Given the description of an element on the screen output the (x, y) to click on. 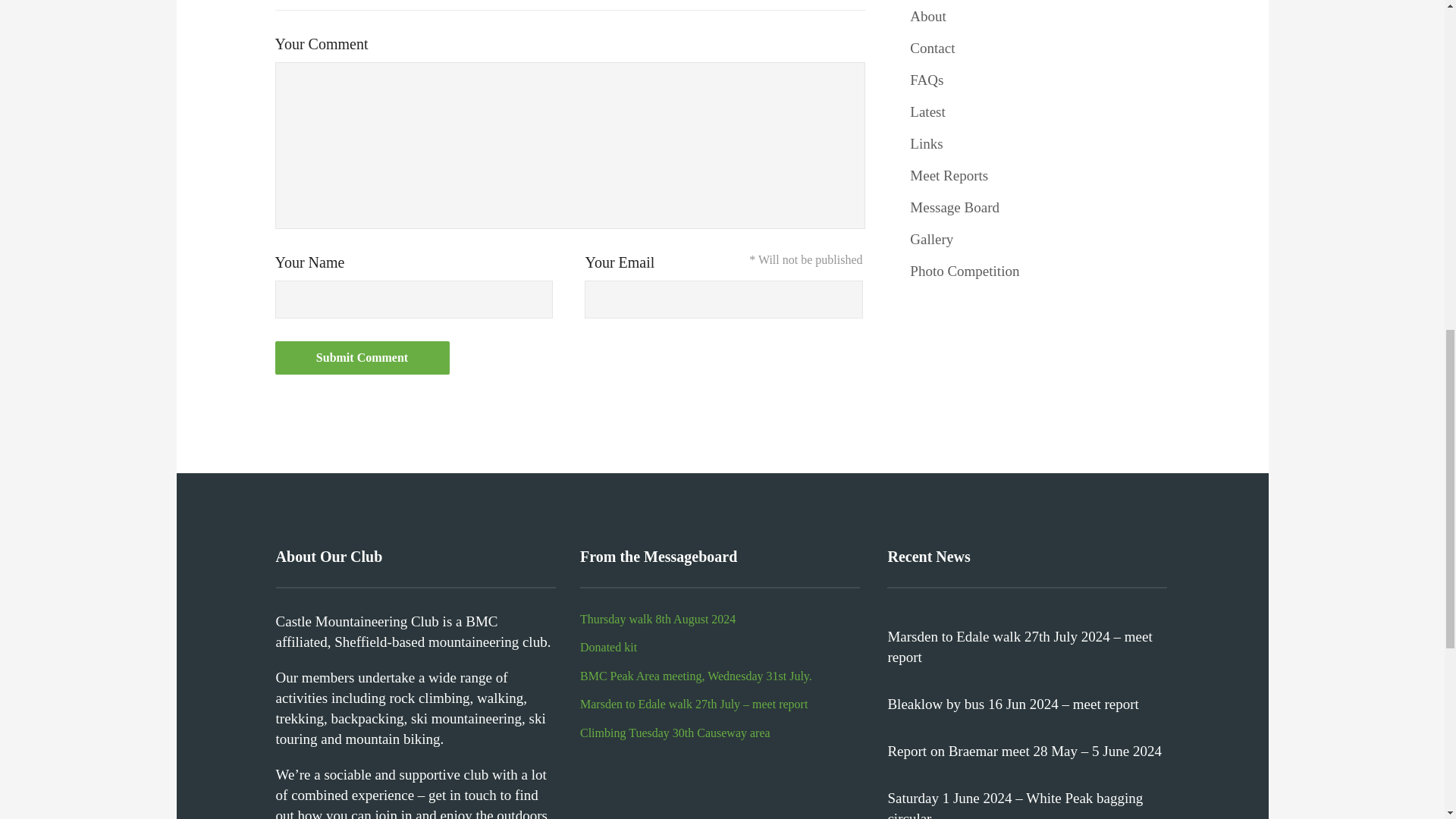
FAQs (926, 79)
Gallery (931, 238)
Submit Comment (361, 357)
Links (926, 143)
Photo Competition (964, 270)
Contact (932, 48)
Submit Comment (361, 357)
Message Board (954, 207)
About (928, 16)
Meet Reports (949, 175)
Latest (927, 111)
